Given the description of an element on the screen output the (x, y) to click on. 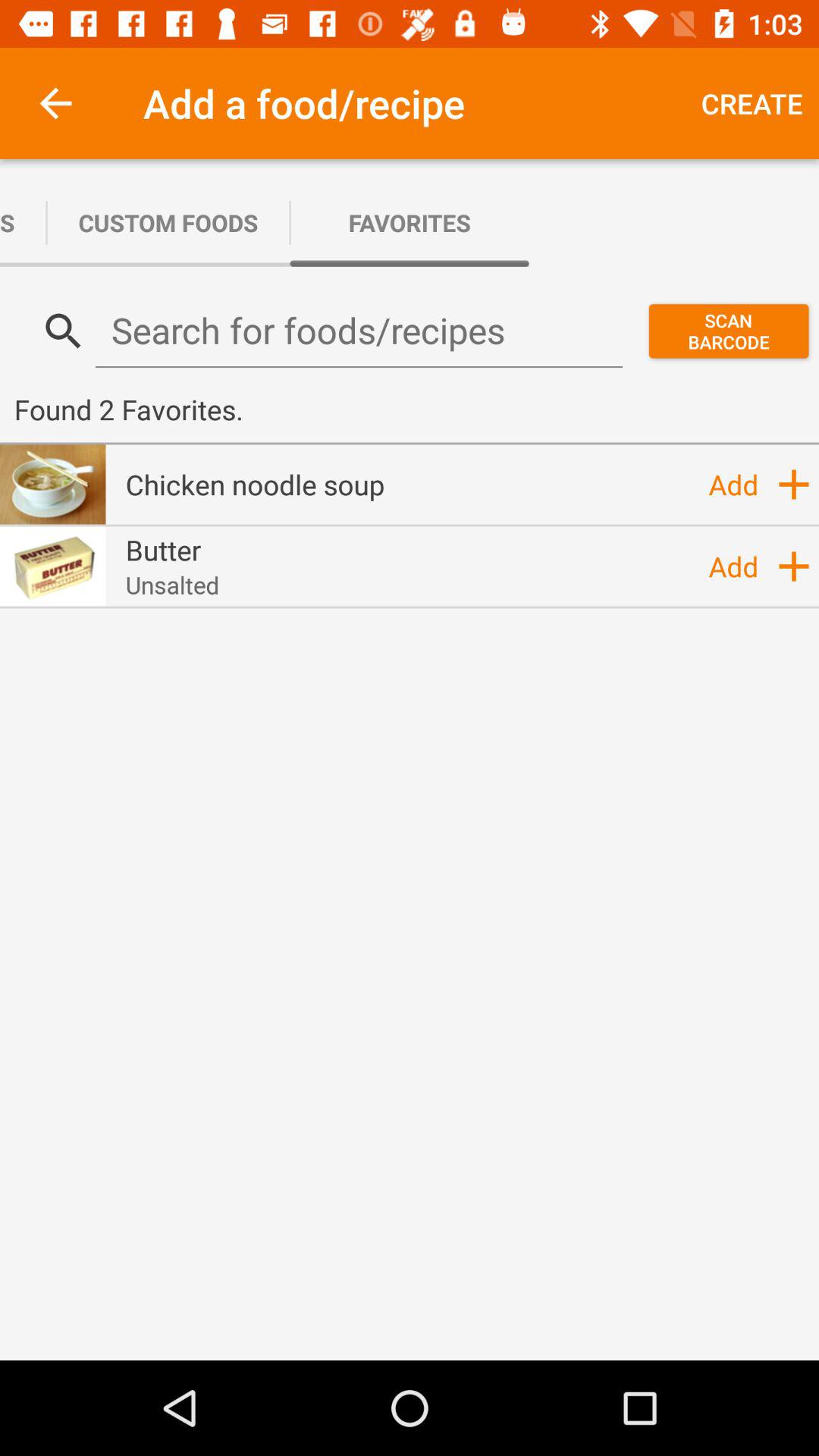
press icon next to add item (254, 484)
